Given the description of an element on the screen output the (x, y) to click on. 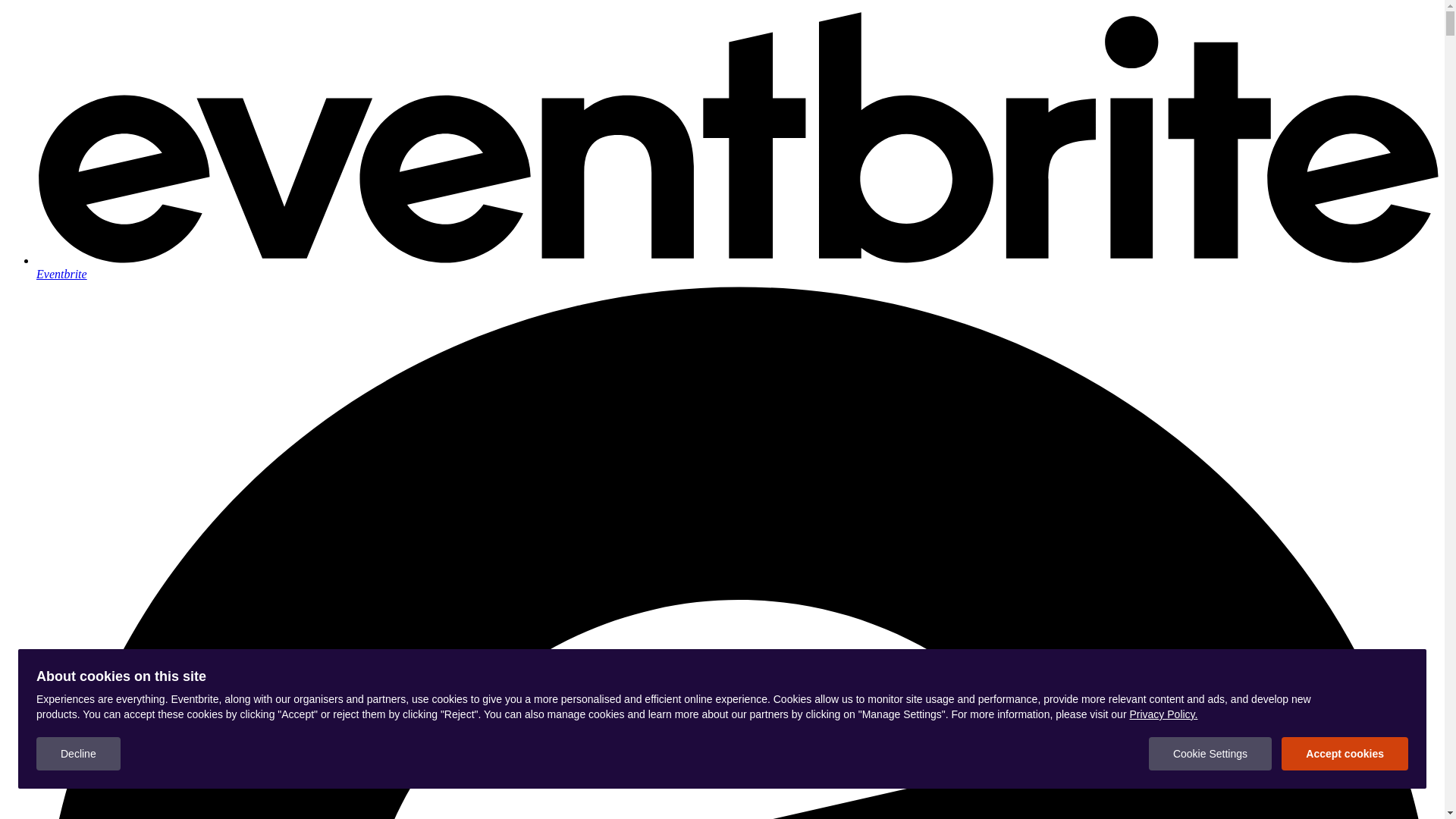
Accept cookies Element type: text (1344, 753)
Cookie Settings Element type: text (1209, 753)
Decline Element type: text (78, 753)
Eventbrite Element type: text (737, 267)
Privacy Policy. Element type: text (1163, 714)
